Given the description of an element on the screen output the (x, y) to click on. 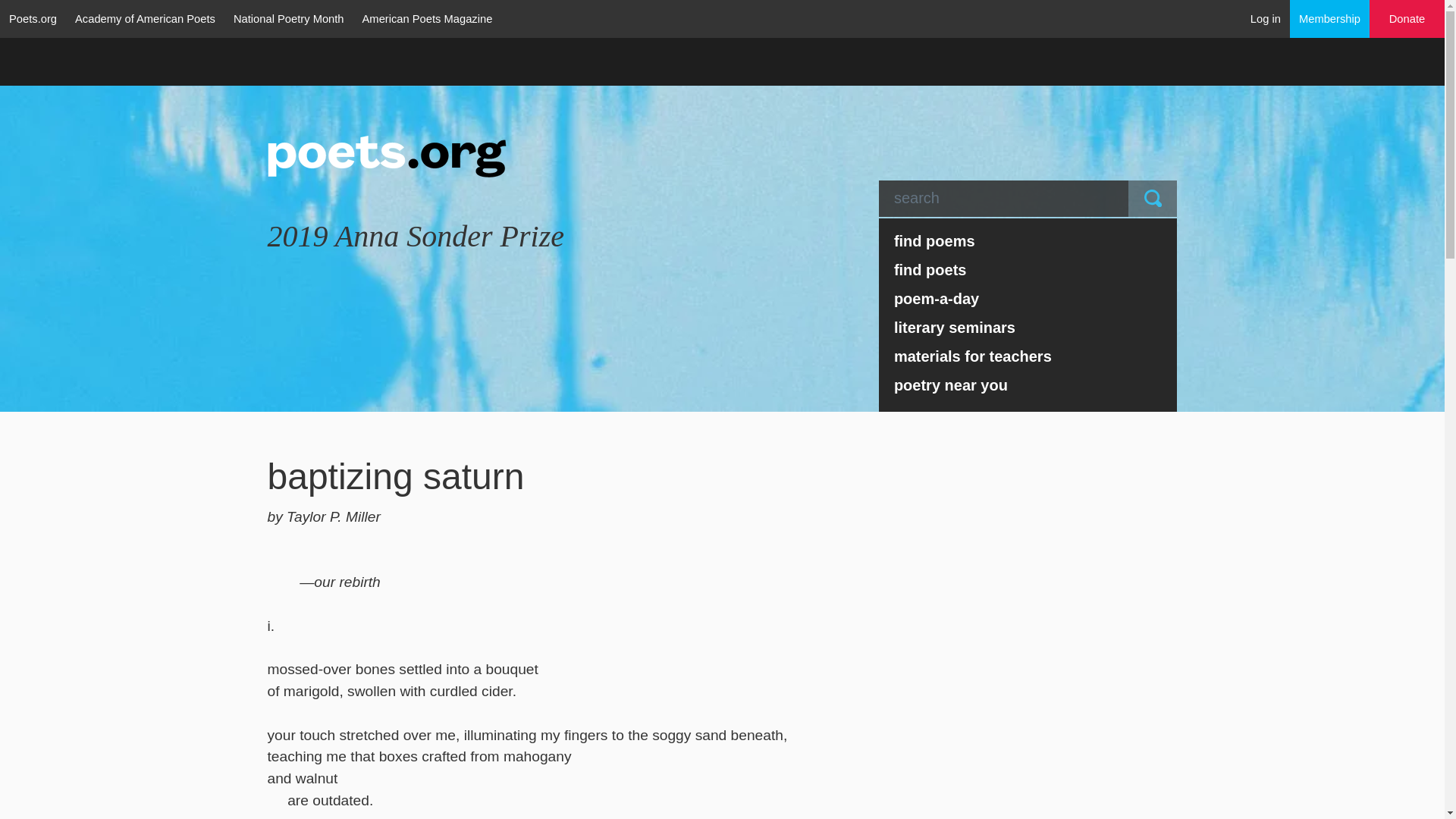
Membership (1330, 18)
National Poetry Month (288, 18)
Donate (1407, 18)
poetry near you (1028, 385)
Become a member of the Academy of American Poets (1330, 18)
poetry near you (1028, 385)
find poets (1028, 269)
Poets.org (32, 18)
poem-a-day (1028, 298)
Support the mission of the Academy of American Poets (1407, 18)
